Given the description of an element on the screen output the (x, y) to click on. 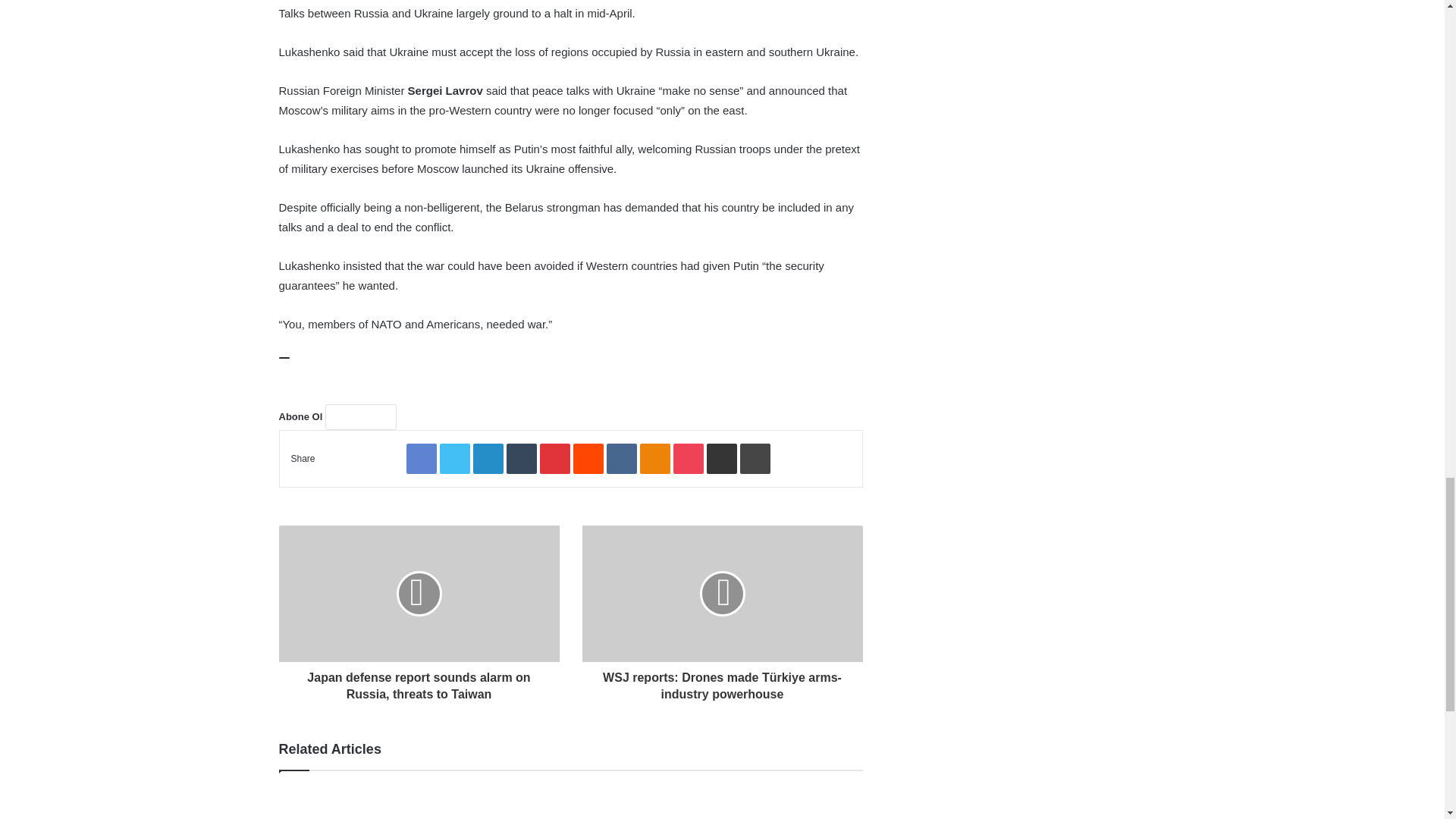
Abone Ol (360, 416)
